Given the description of an element on the screen output the (x, y) to click on. 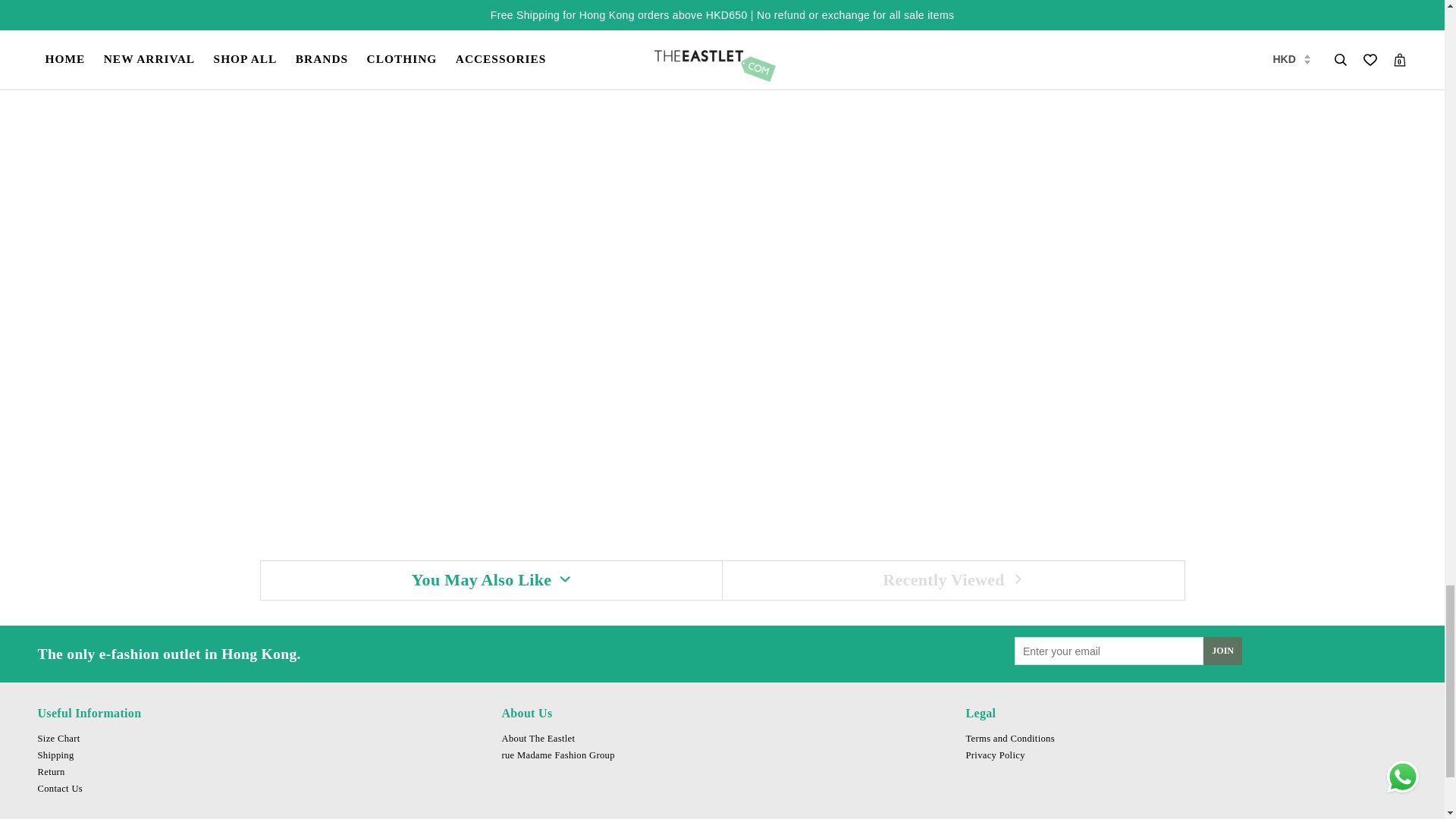
Join (1222, 651)
